Given the description of an element on the screen output the (x, y) to click on. 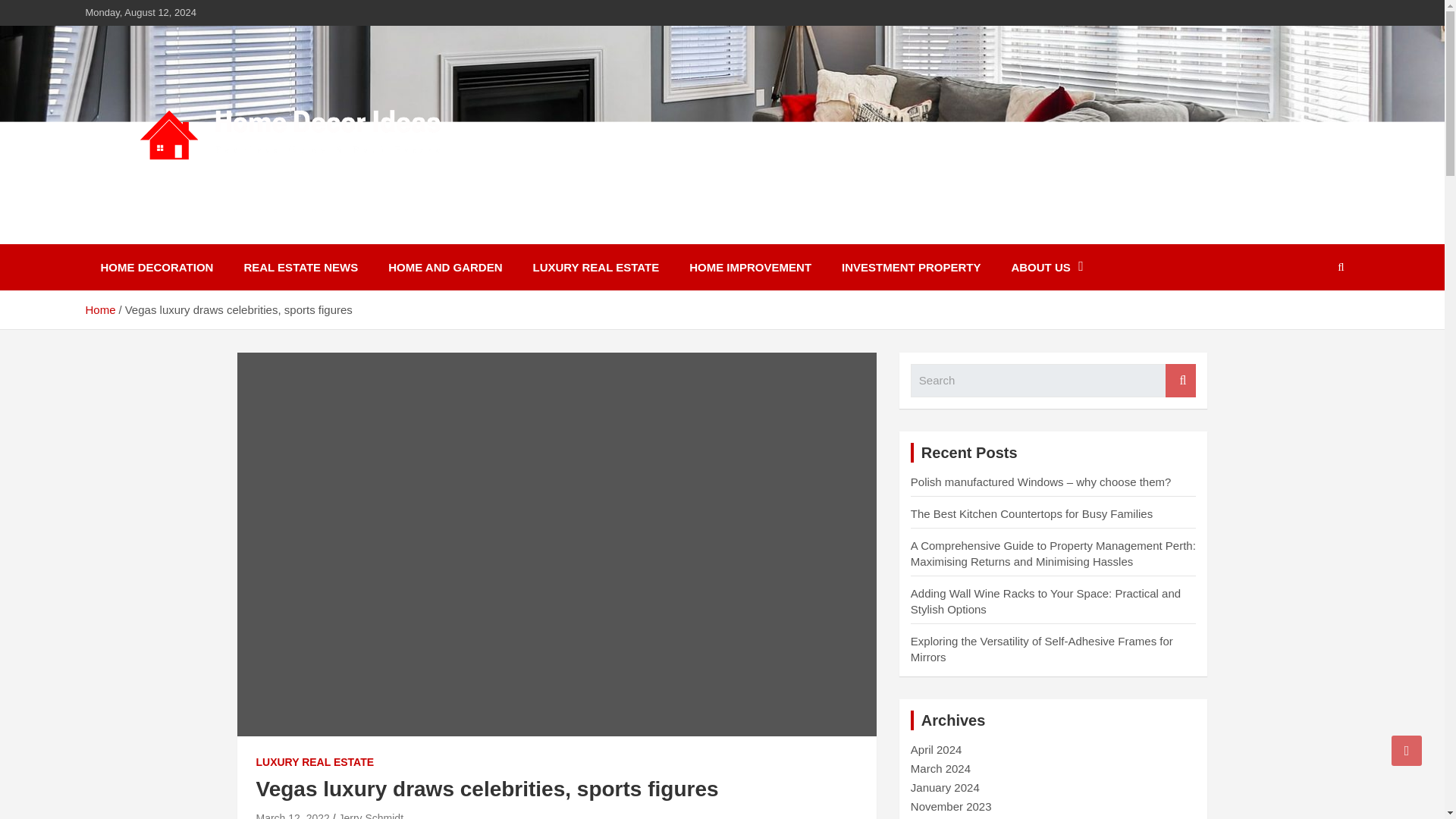
Home (99, 309)
HOME DECORATION (156, 267)
Vegas luxury draws celebrities, sports figures (293, 815)
Jerry Schmidt (370, 815)
REAL ESTATE NEWS (300, 267)
January 2024 (945, 787)
November 2023 (951, 806)
Go to Top (1406, 750)
